Given the description of an element on the screen output the (x, y) to click on. 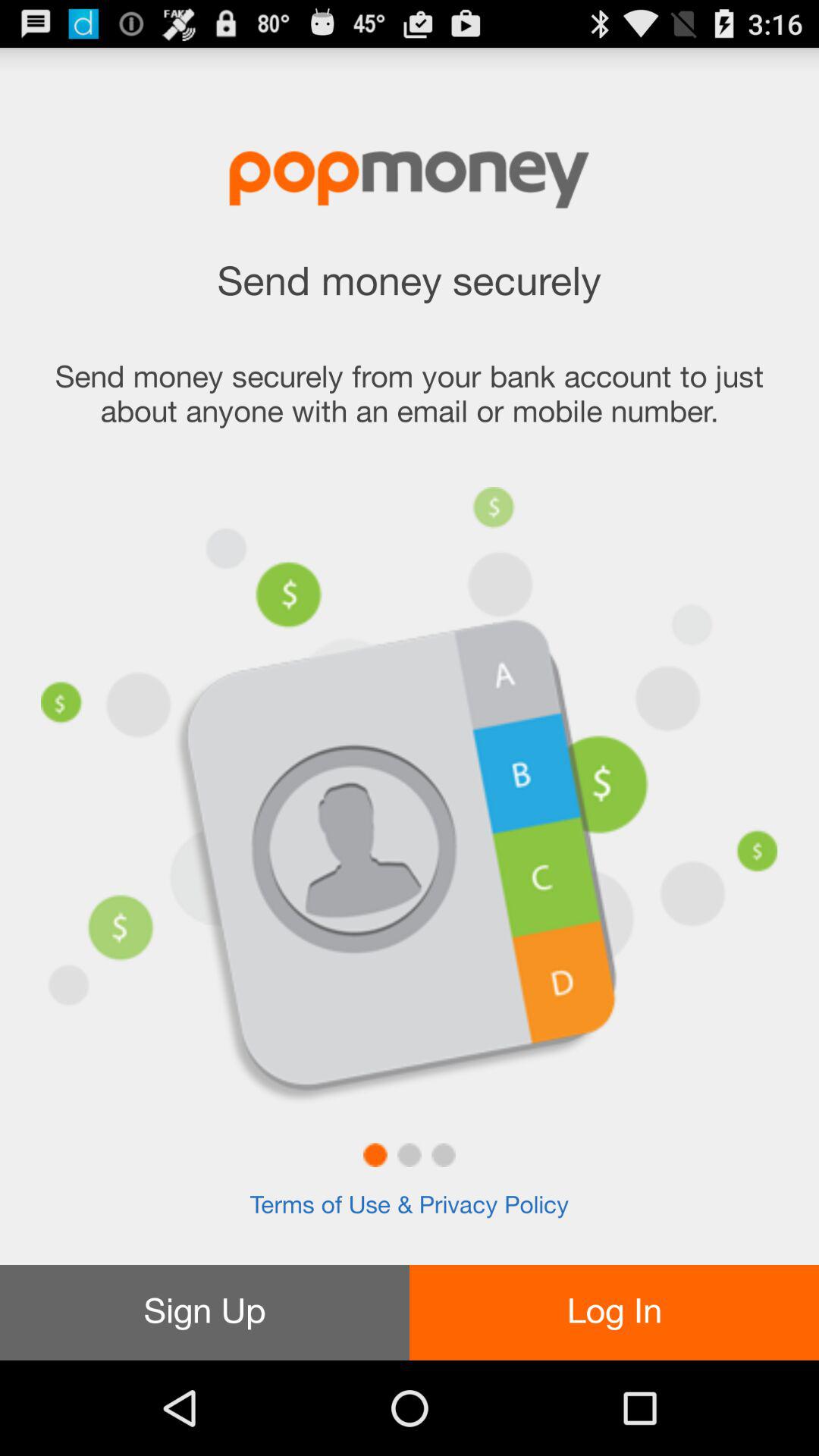
turn on icon next to sign up icon (614, 1312)
